Given the description of an element on the screen output the (x, y) to click on. 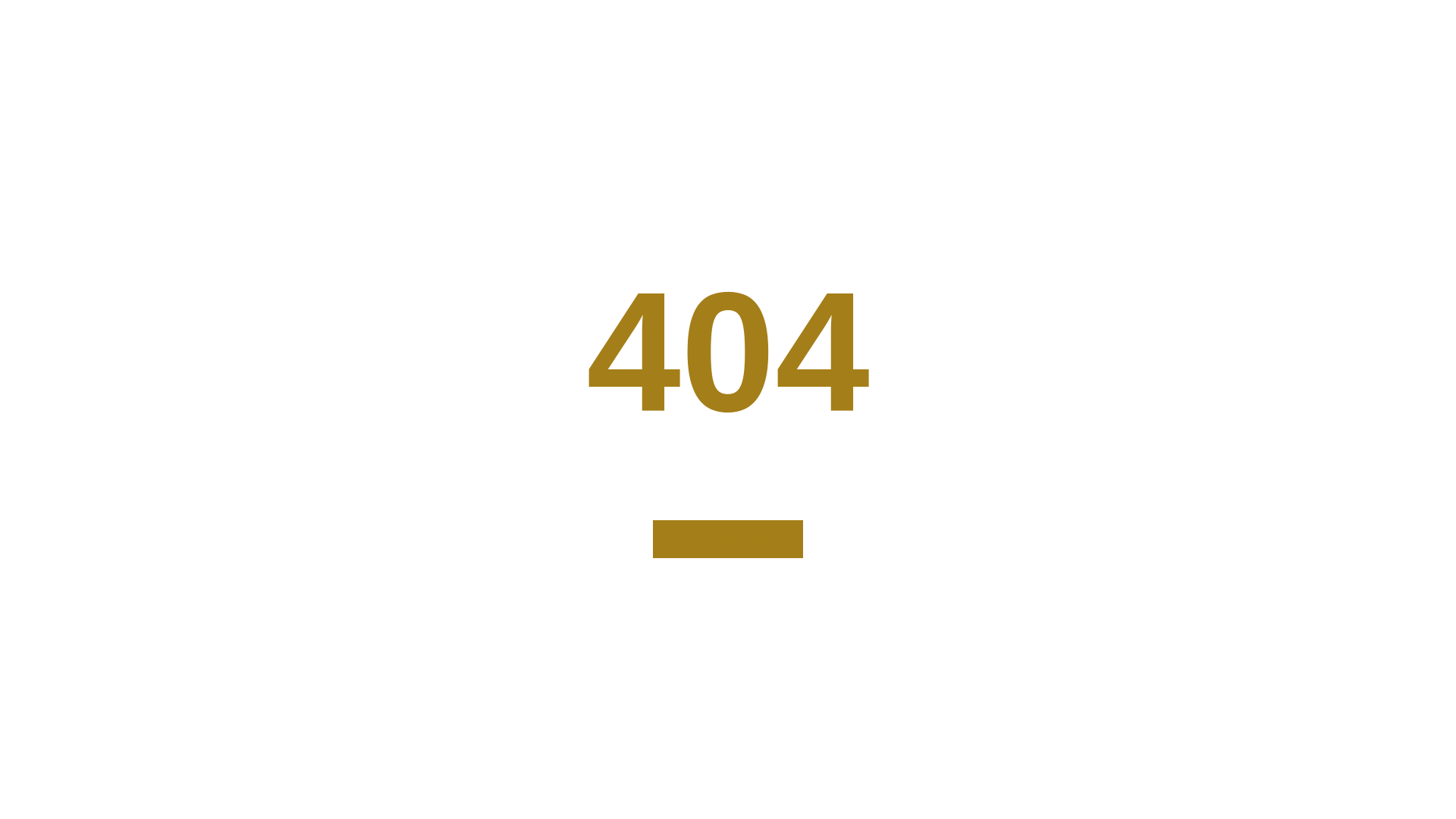
Home Page Element type: text (728, 539)
